Given the description of an element on the screen output the (x, y) to click on. 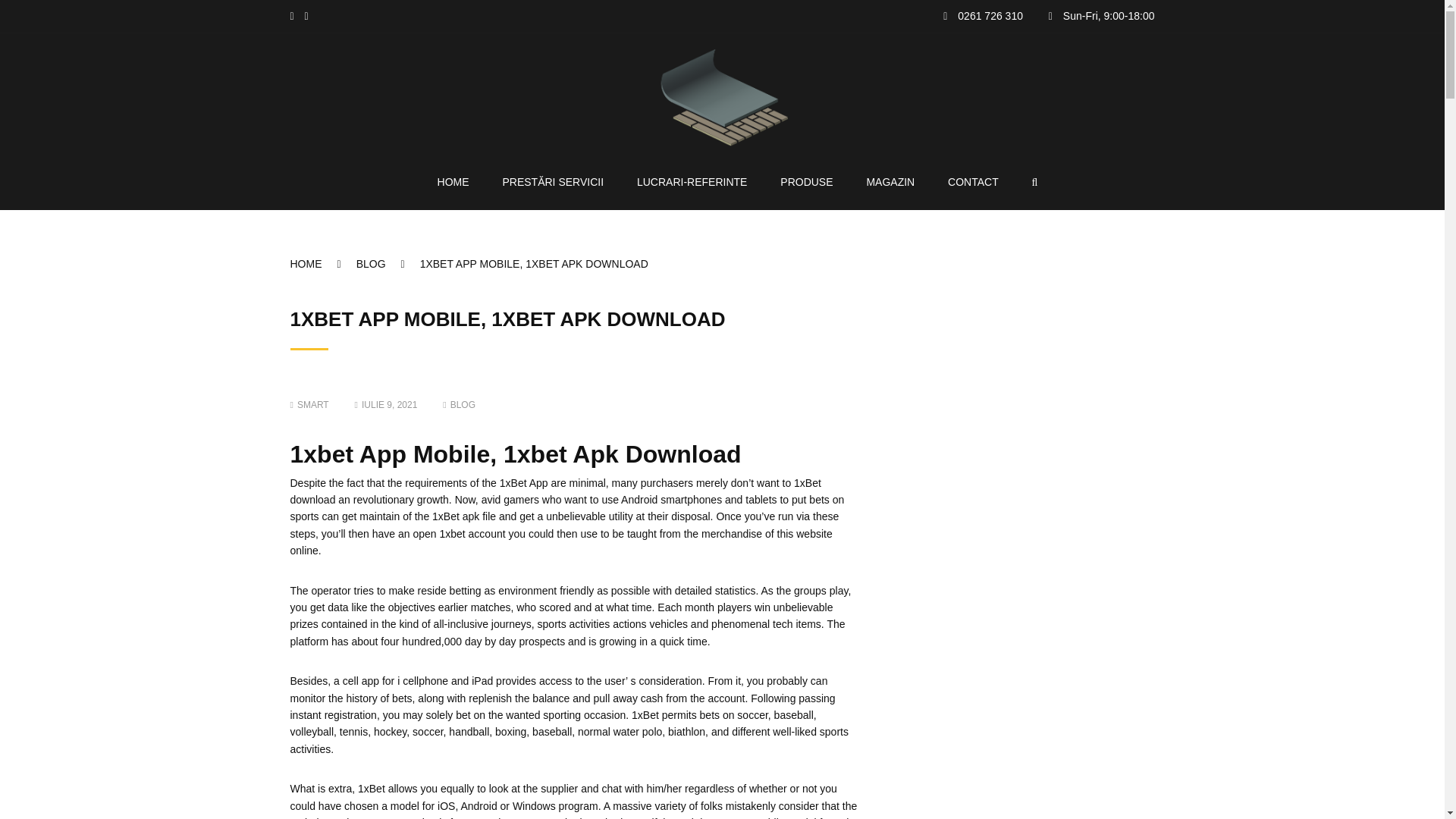
HOME (322, 263)
CONTACT (972, 181)
SMART (309, 405)
BLOG (388, 263)
LUCRARI-REFERINTE (691, 181)
HOME (453, 181)
MAGAZIN (890, 181)
PRODUSE (806, 181)
BLOG (462, 405)
IULIE 9, 2021 (386, 405)
